Given the description of an element on the screen output the (x, y) to click on. 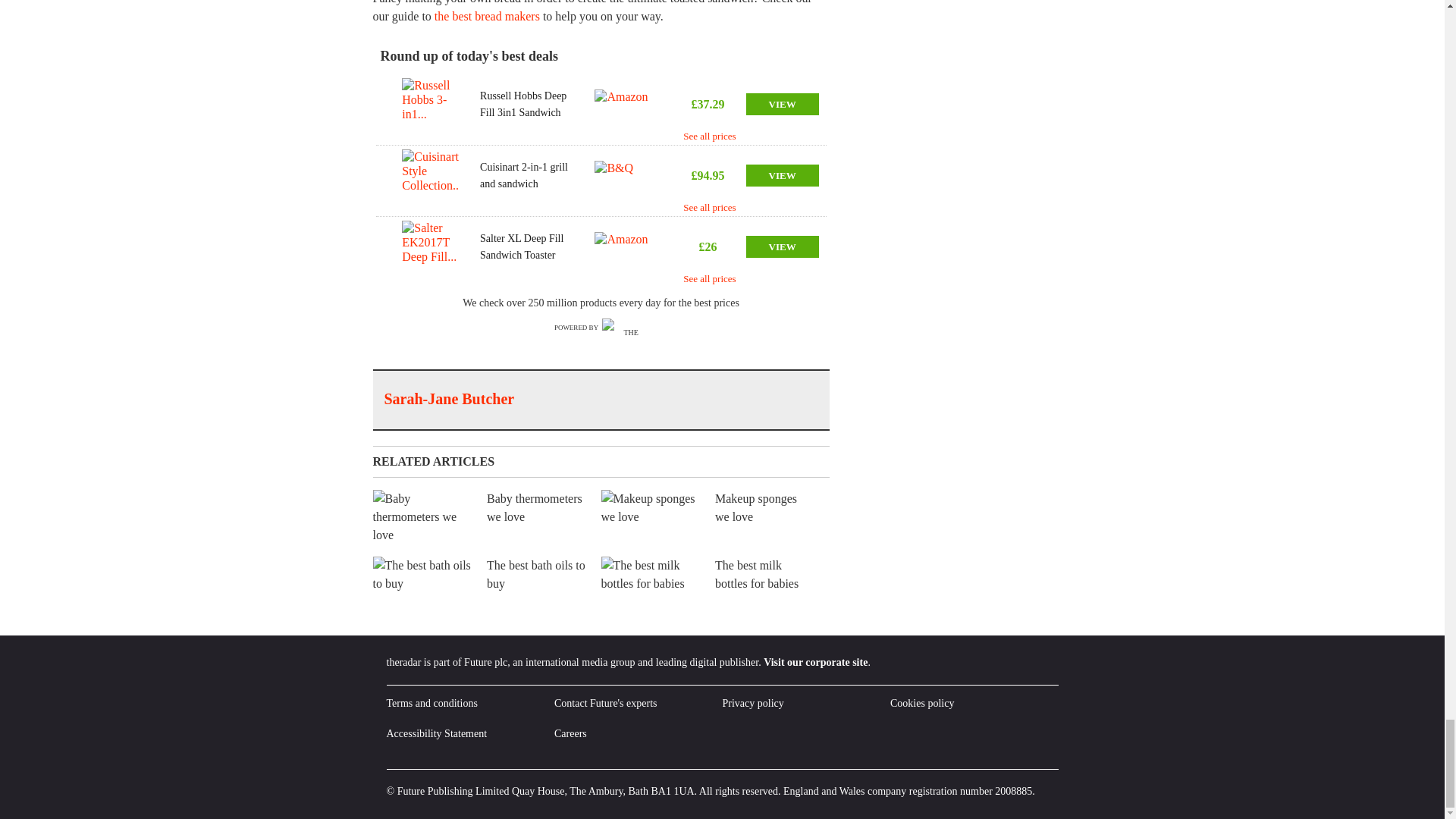
Amazon (624, 246)
Salter EK2017T Deep Fill... (431, 246)
Amazon (624, 104)
Cuisinart Style Collection... (431, 175)
The Radar (624, 327)
Russell Hobbs 3-in1... (431, 104)
